Given the description of an element on the screen output the (x, y) to click on. 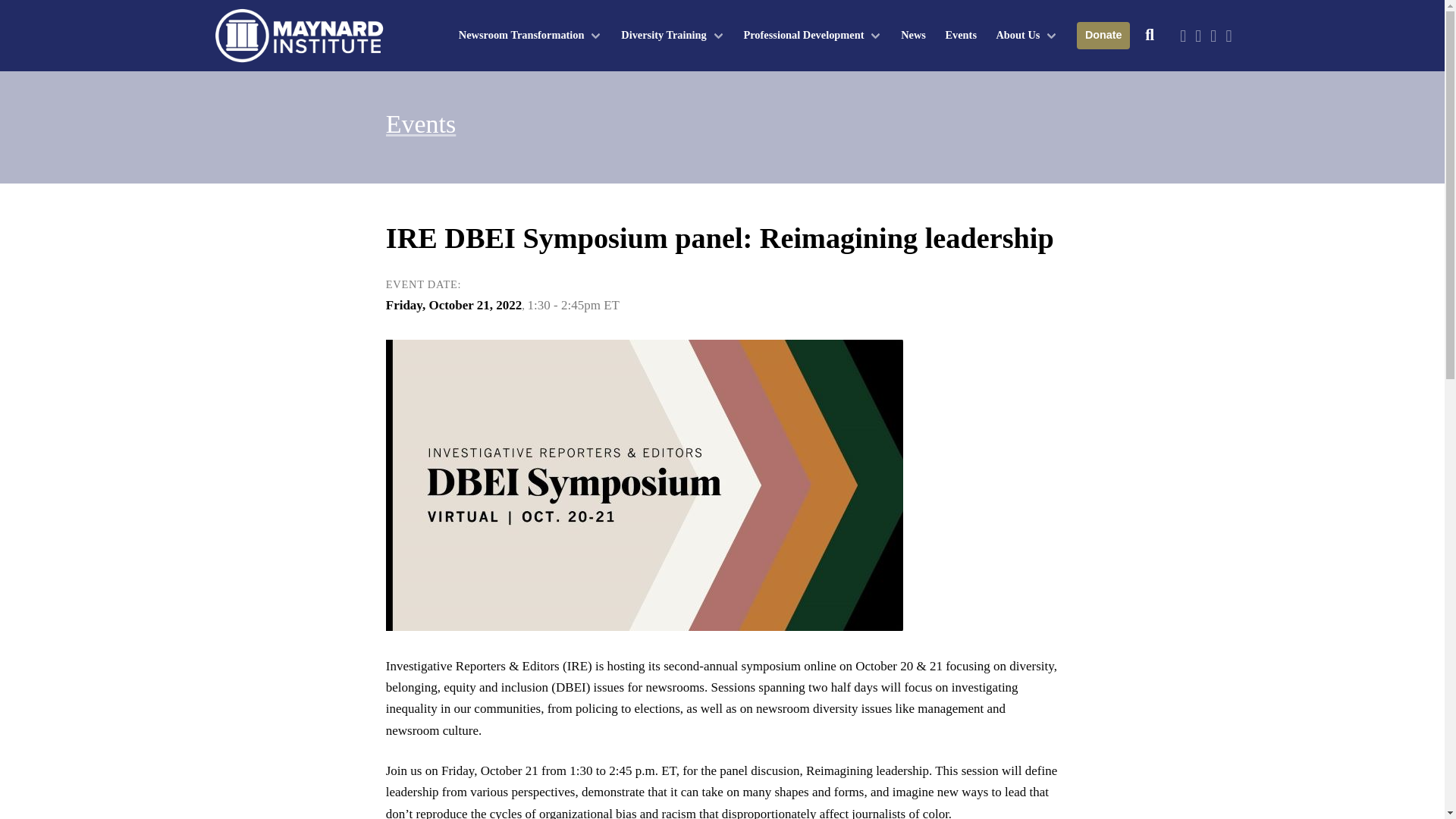
Diversity Training (672, 35)
About Us (1027, 35)
Professional Development (812, 35)
Donate (1103, 35)
Newsroom Transformation (529, 35)
Events (421, 122)
